Given the description of an element on the screen output the (x, y) to click on. 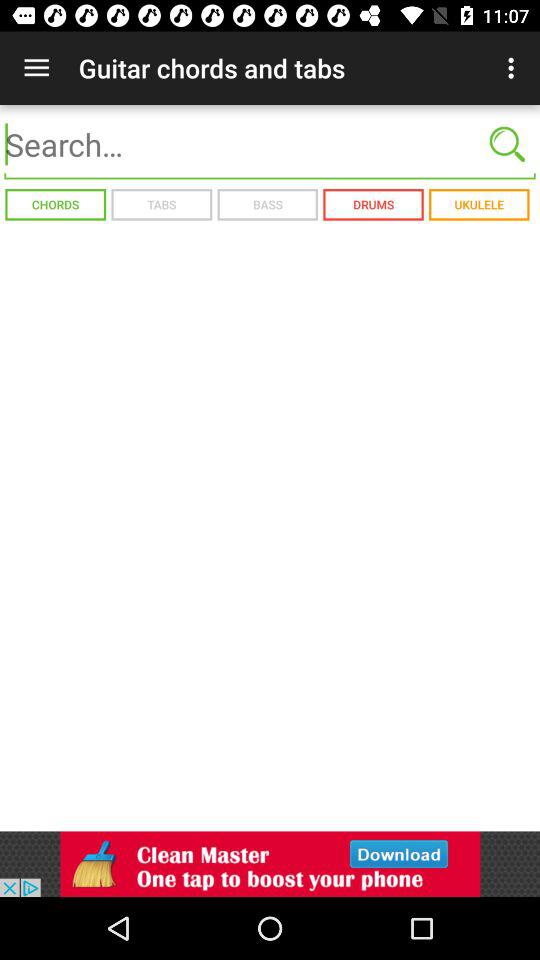
search bar function (270, 144)
